Given the description of an element on the screen output the (x, y) to click on. 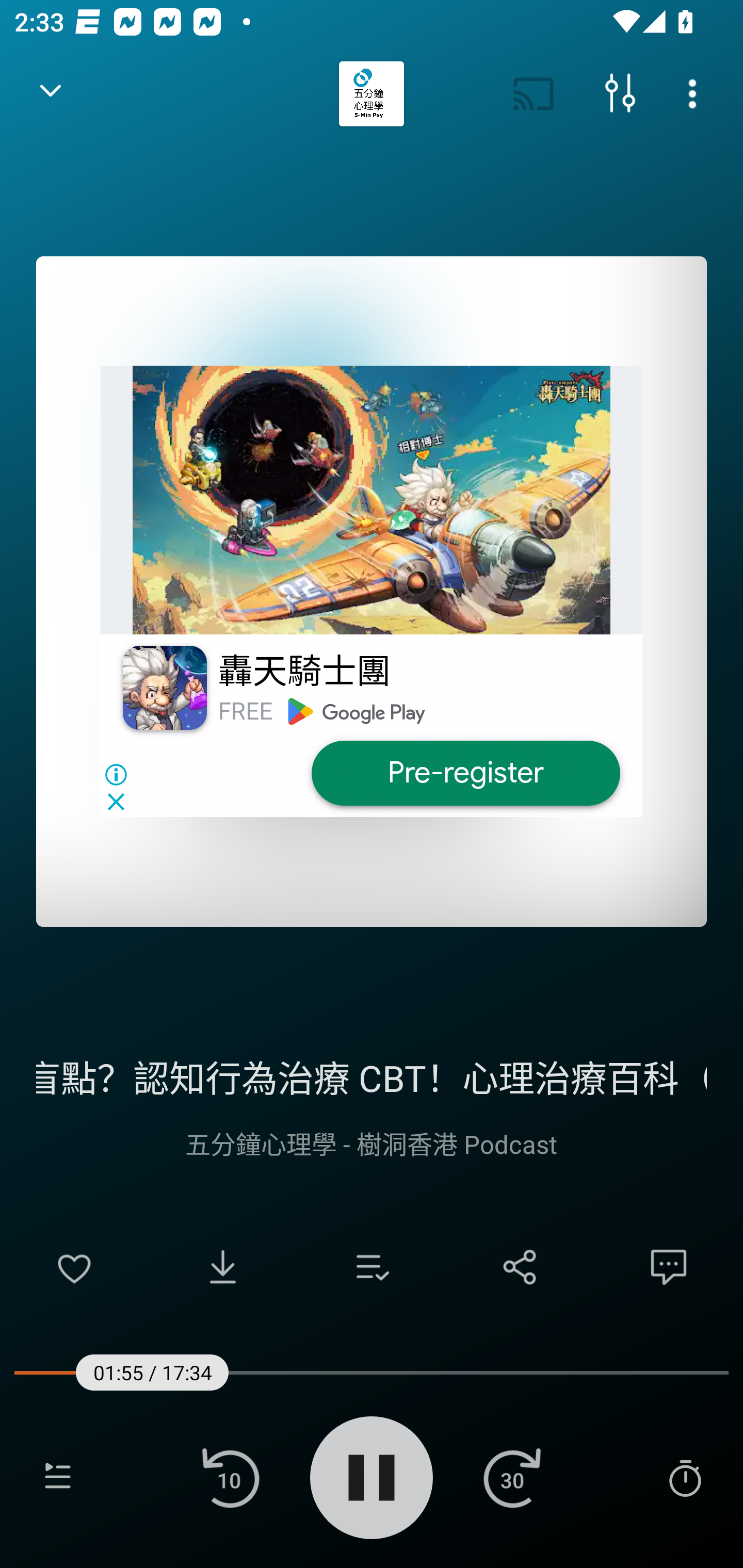
Cast. Disconnected (533, 93)
 Back (50, 94)
轟天騎士團 (303, 672)
FREE (245, 710)
Pre-register (464, 772)
#PSY｜困擾源於盲點？認知行為治療 CBT！心理治療百科（一）｜#五分鐘心理學 (371, 1075)
五分鐘心理學 - 樹洞香港 Podcast (371, 1142)
Comments (668, 1266)
Add to Favorites (73, 1266)
Add to playlist (371, 1266)
Share (519, 1266)
 Playlist (57, 1477)
Sleep Timer  (684, 1477)
